Given the description of an element on the screen output the (x, y) to click on. 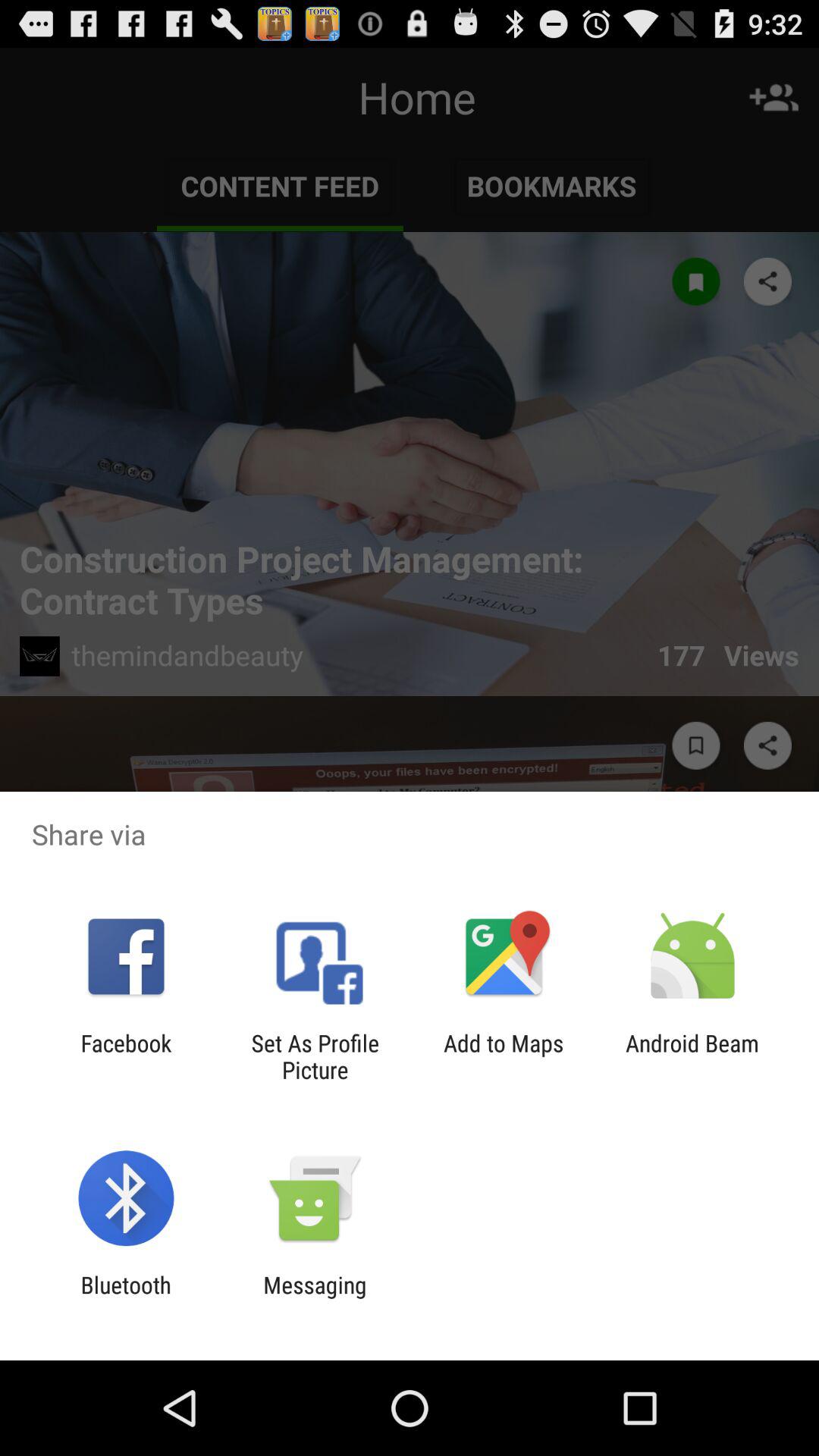
turn on app next to facebook (314, 1056)
